Given the description of an element on the screen output the (x, y) to click on. 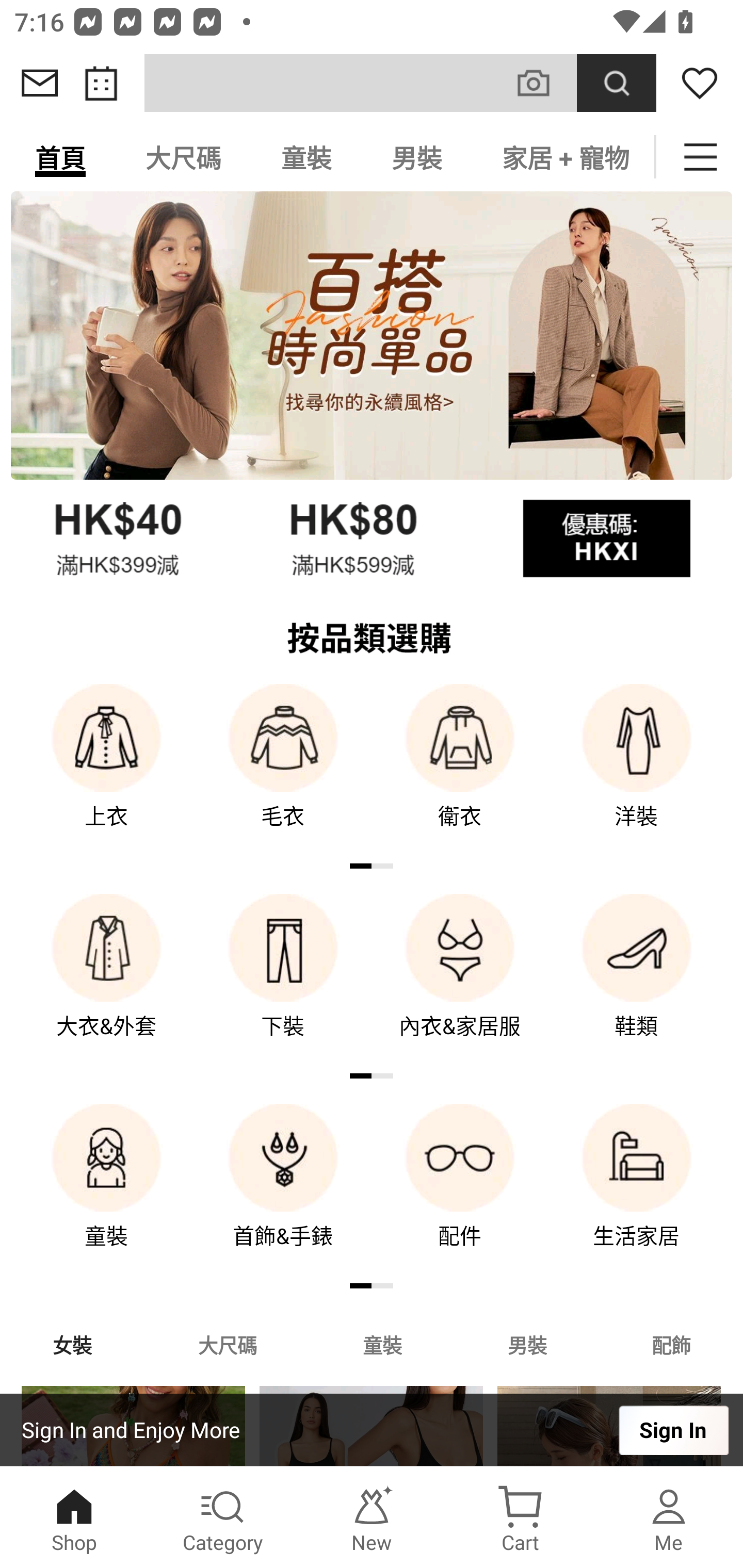
Wishlist (699, 82)
VISUAL SEARCH (543, 82)
首頁 (60, 156)
大尺碼 (183, 156)
童裝 (306, 156)
男裝 (416, 156)
家居 + 寵物 (563, 156)
上衣 (105, 769)
毛衣 (282, 769)
衛衣 (459, 769)
洋裝 (636, 769)
大衣&外套 (105, 979)
下裝 (282, 979)
內衣&家居服 (459, 979)
鞋類 (636, 979)
童裝 (105, 1189)
首飾&手錶 (282, 1189)
配件 (459, 1189)
生活家居 (636, 1189)
女裝 (72, 1344)
大尺碼 (226, 1344)
童裝 (381, 1344)
男裝 (527, 1344)
配飾 (671, 1344)
Category (222, 1517)
New (371, 1517)
Cart (519, 1517)
Me (668, 1517)
